Given the description of an element on the screen output the (x, y) to click on. 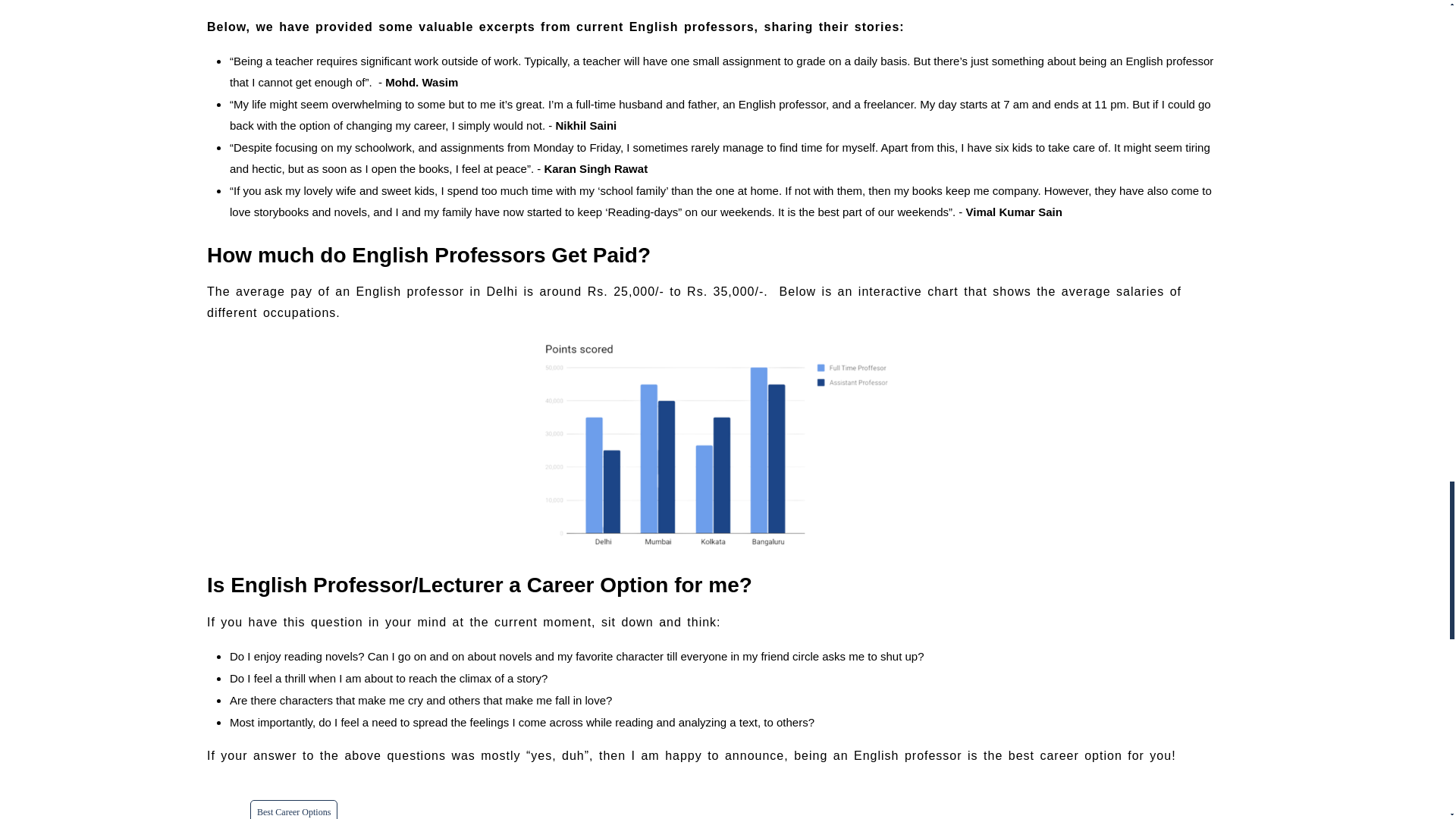
Best Career Options (293, 809)
